Given the description of an element on the screen output the (x, y) to click on. 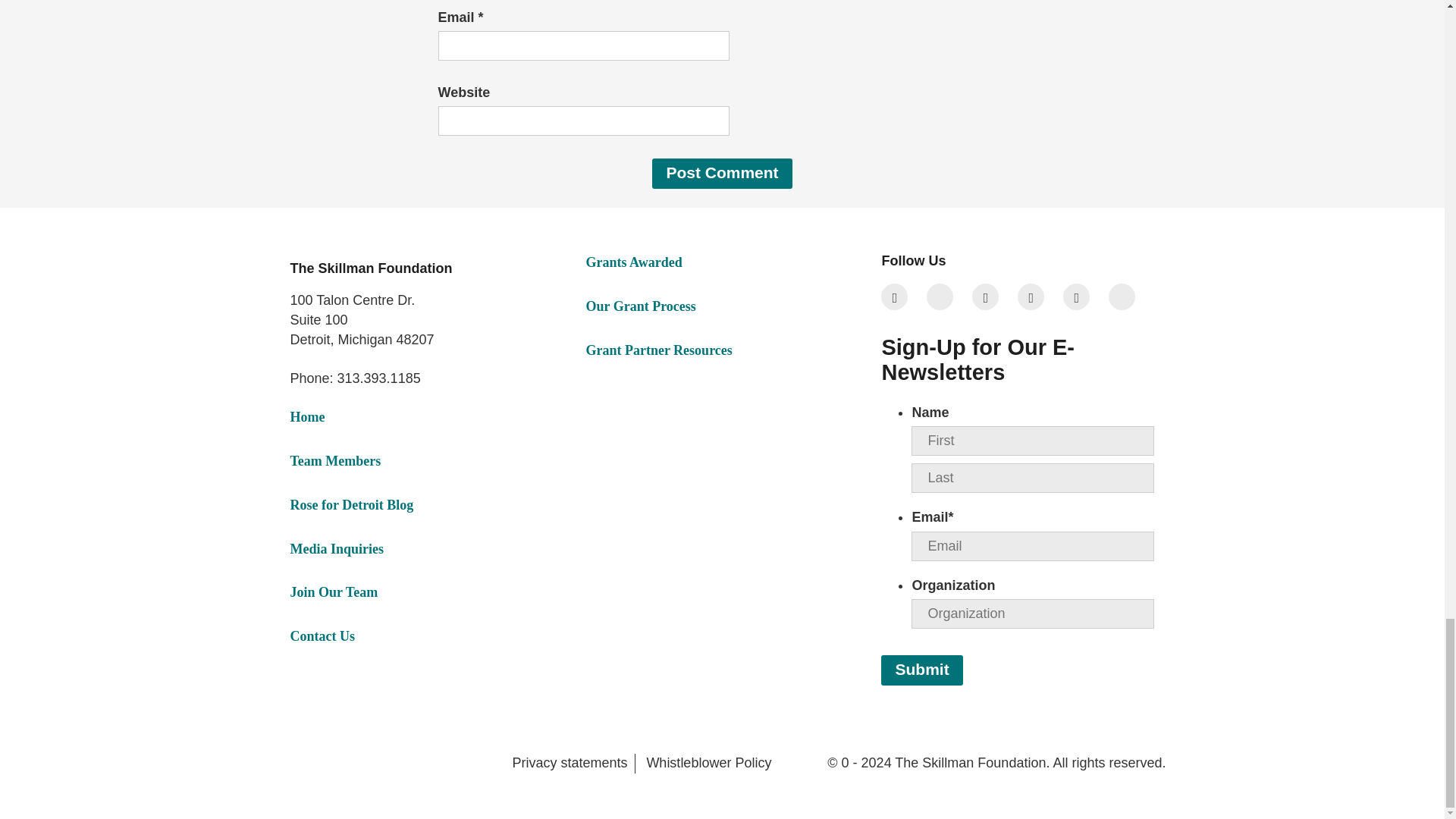
Team Members (334, 460)
Home (306, 417)
Submit (921, 670)
Rose for Detroit Blog (351, 504)
Post Comment (722, 173)
Post Comment (722, 173)
